Given the description of an element on the screen output the (x, y) to click on. 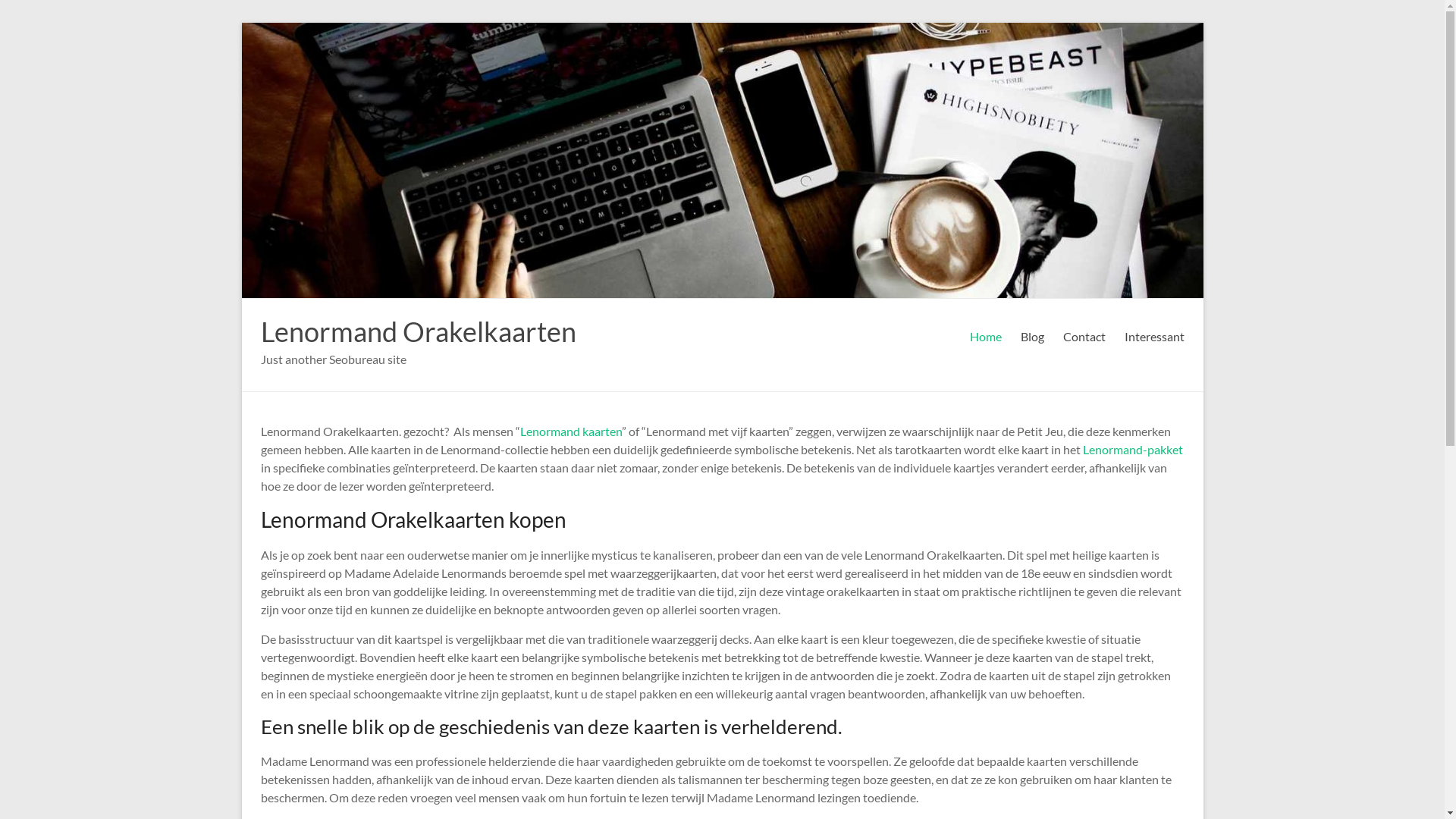
Contact Element type: text (1084, 336)
Lenormand-pakket Element type: text (1130, 449)
Lenormand Orakelkaarten Element type: text (418, 331)
Lenormand kaarten Element type: text (570, 430)
Home Element type: text (985, 336)
Blog Element type: text (1032, 336)
Interessant Element type: text (1153, 336)
Ga naar inhoud Element type: text (241, 21)
